Given the description of an element on the screen output the (x, y) to click on. 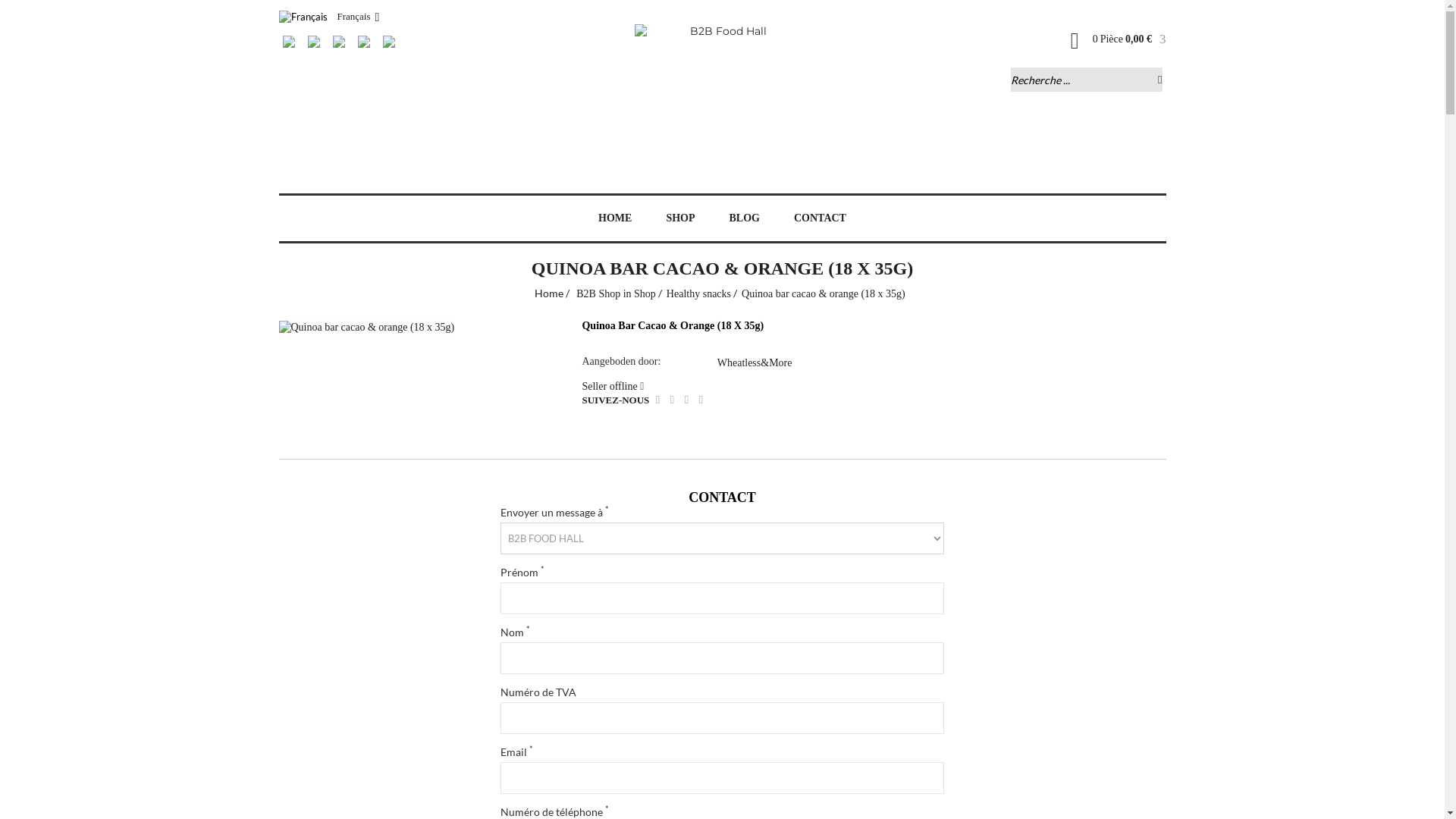
Home Element type: text (551, 293)
B2B Food Hall Element type: hover (721, 94)
Wheatless&More Element type: text (754, 362)
Google+ Element type: text (686, 402)
HOME Element type: text (614, 218)
Pinterest Element type: text (700, 402)
B2B Shop in Shop Element type: text (619, 294)
CONTACT Element type: text (819, 218)
BLOG Element type: text (744, 218)
Tweet Element type: text (671, 402)
Partager Element type: text (657, 402)
SHOP Element type: text (679, 218)
Healthy snacks Element type: text (701, 294)
Quinoa bar cacao & orange (18 x 35g) Element type: hover (367, 327)
